Given the description of an element on the screen output the (x, y) to click on. 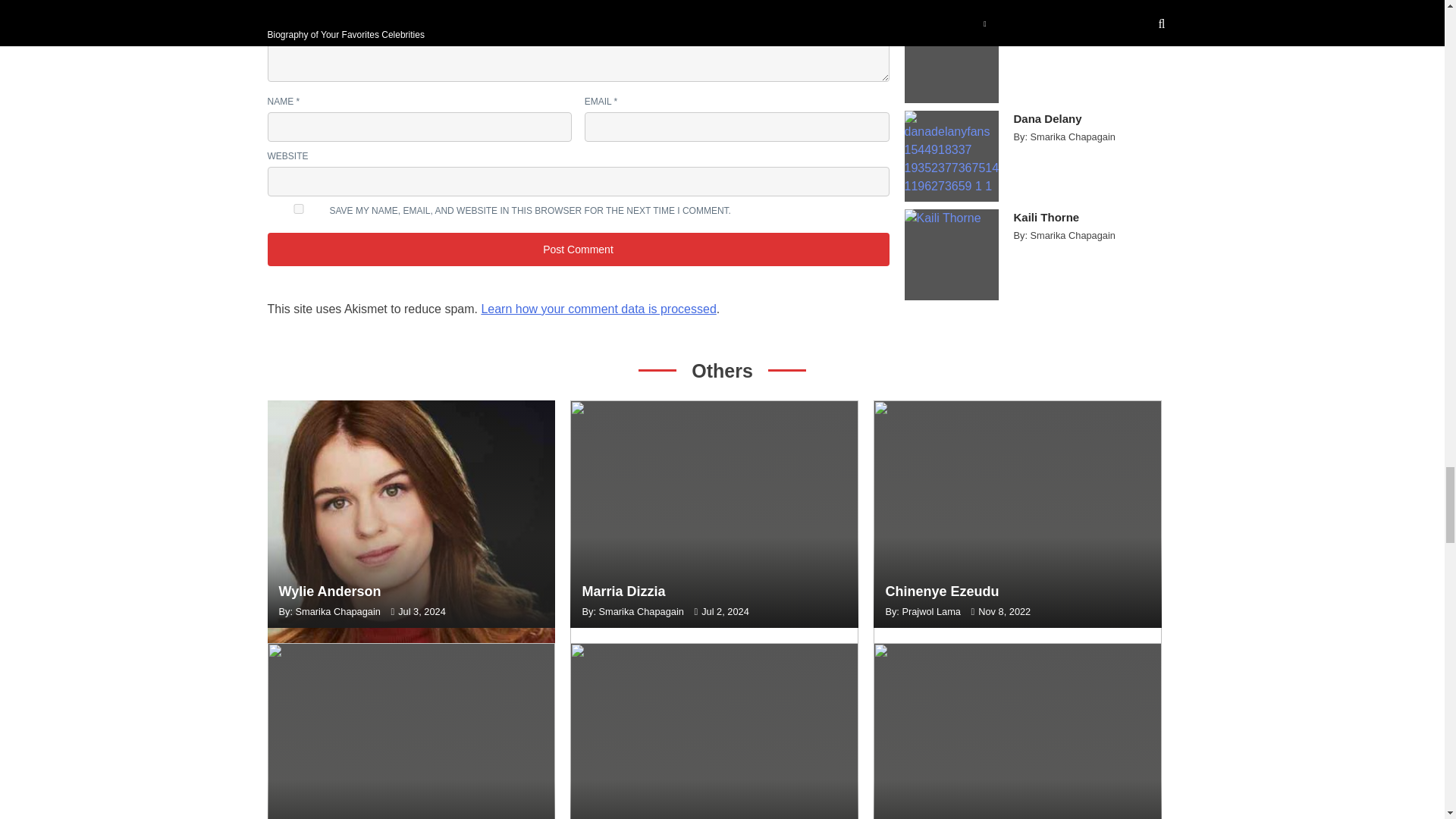
Post Comment (577, 249)
yes (297, 208)
Learn how your comment data is processed (598, 308)
Post Comment (577, 249)
